Given the description of an element on the screen output the (x, y) to click on. 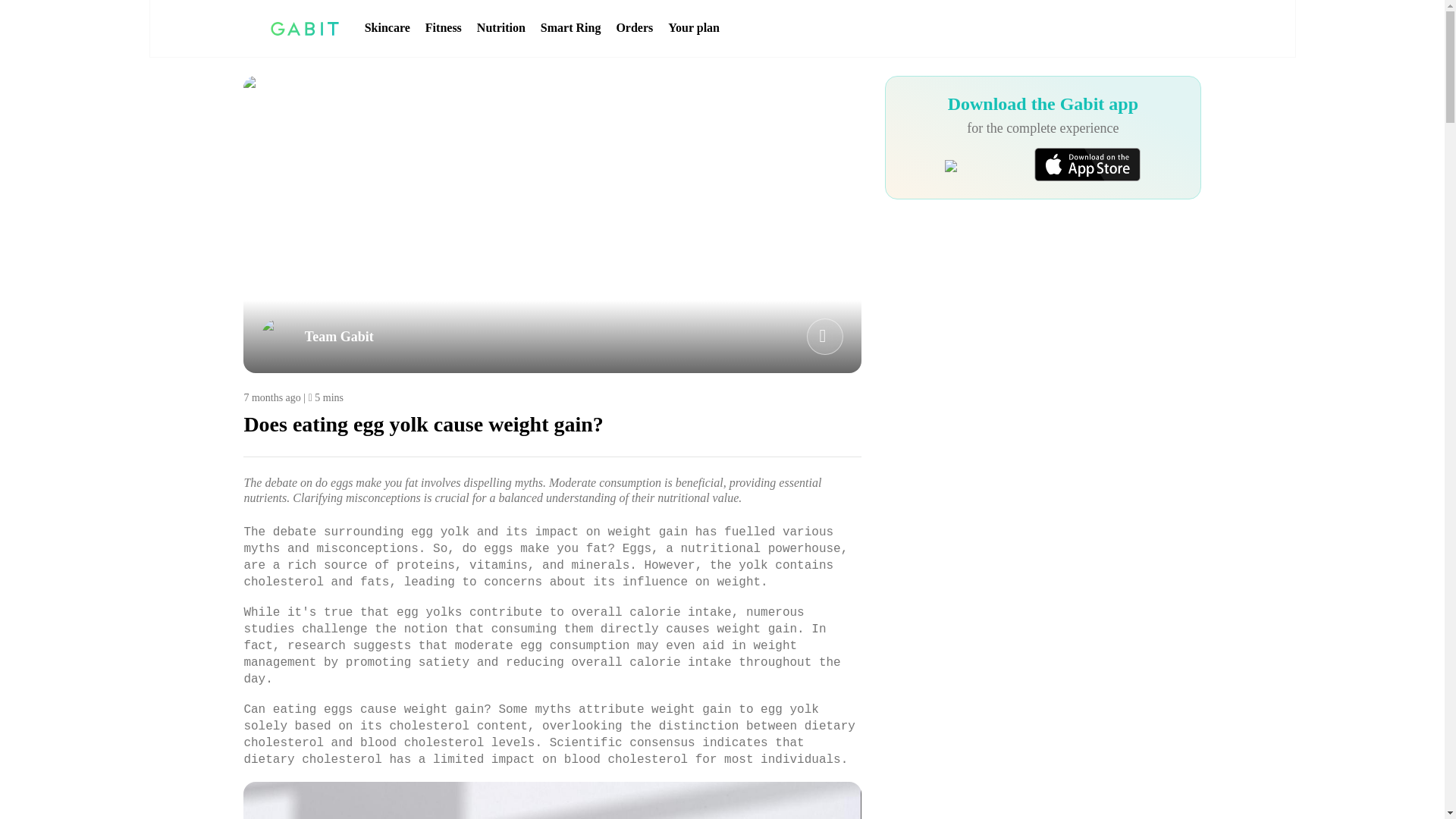
Fitness (443, 27)
Skincare (387, 27)
Orders (633, 27)
Your plan (693, 27)
Smart Ring (570, 27)
Nutrition (501, 27)
